Given the description of an element on the screen output the (x, y) to click on. 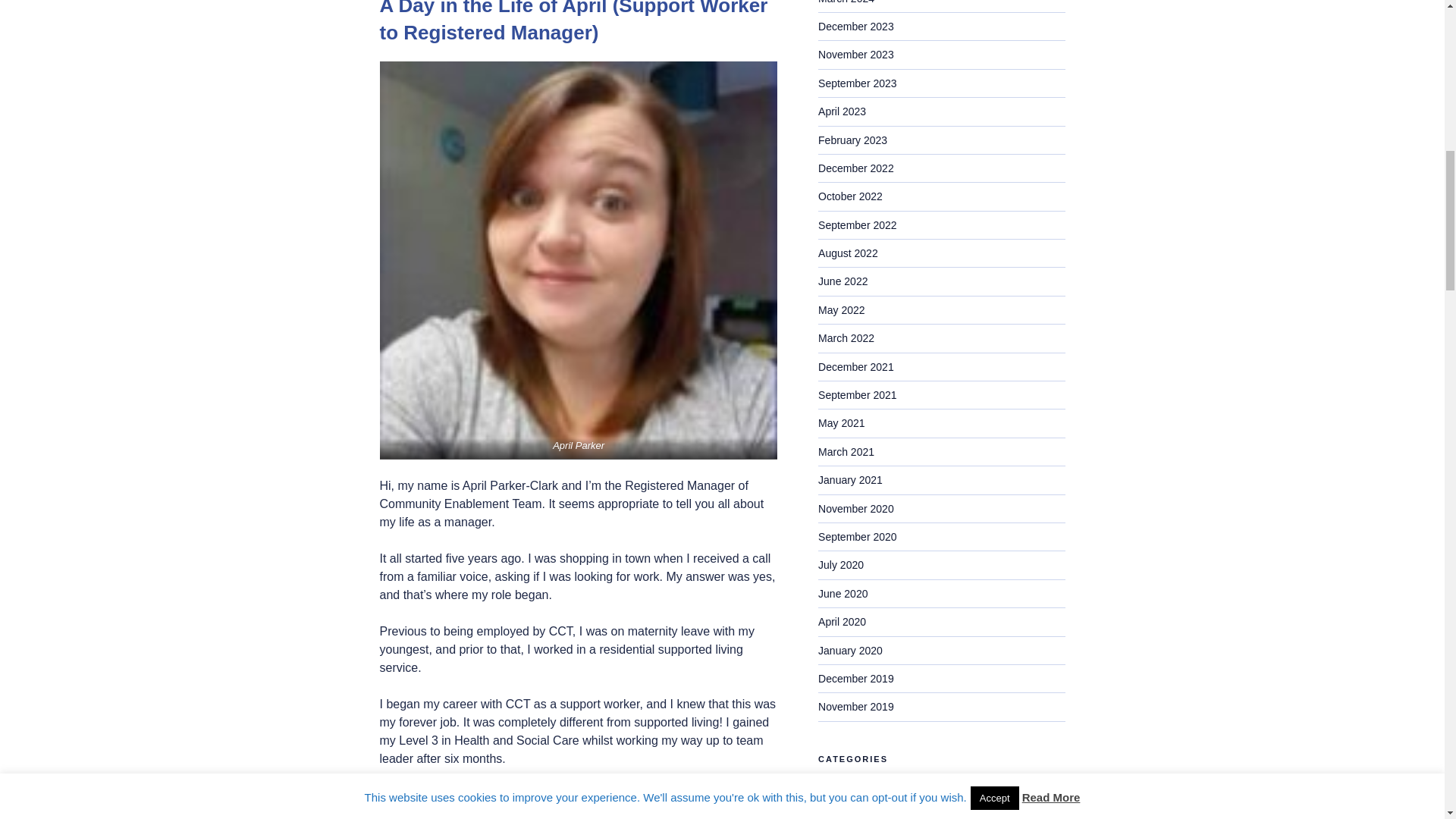
March 2024 (846, 2)
